Given the description of an element on the screen output the (x, y) to click on. 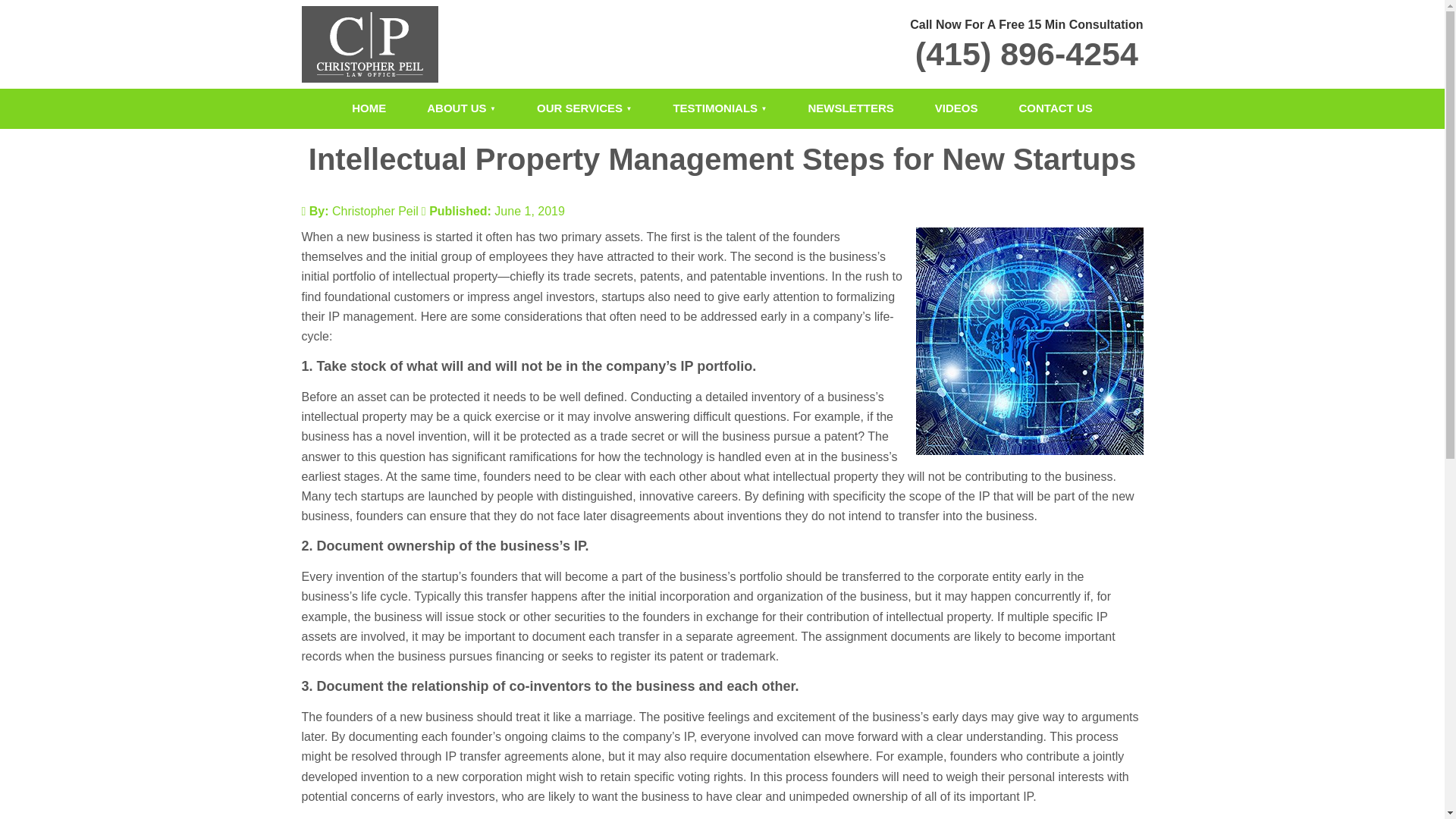
OUR SERVICES (584, 108)
HOME (368, 108)
ABOUT US (461, 108)
VIDEOS (956, 108)
CONTACT US (1055, 108)
TESTIMONIALS (719, 108)
NEWSLETTERS (850, 108)
